Given the description of an element on the screen output the (x, y) to click on. 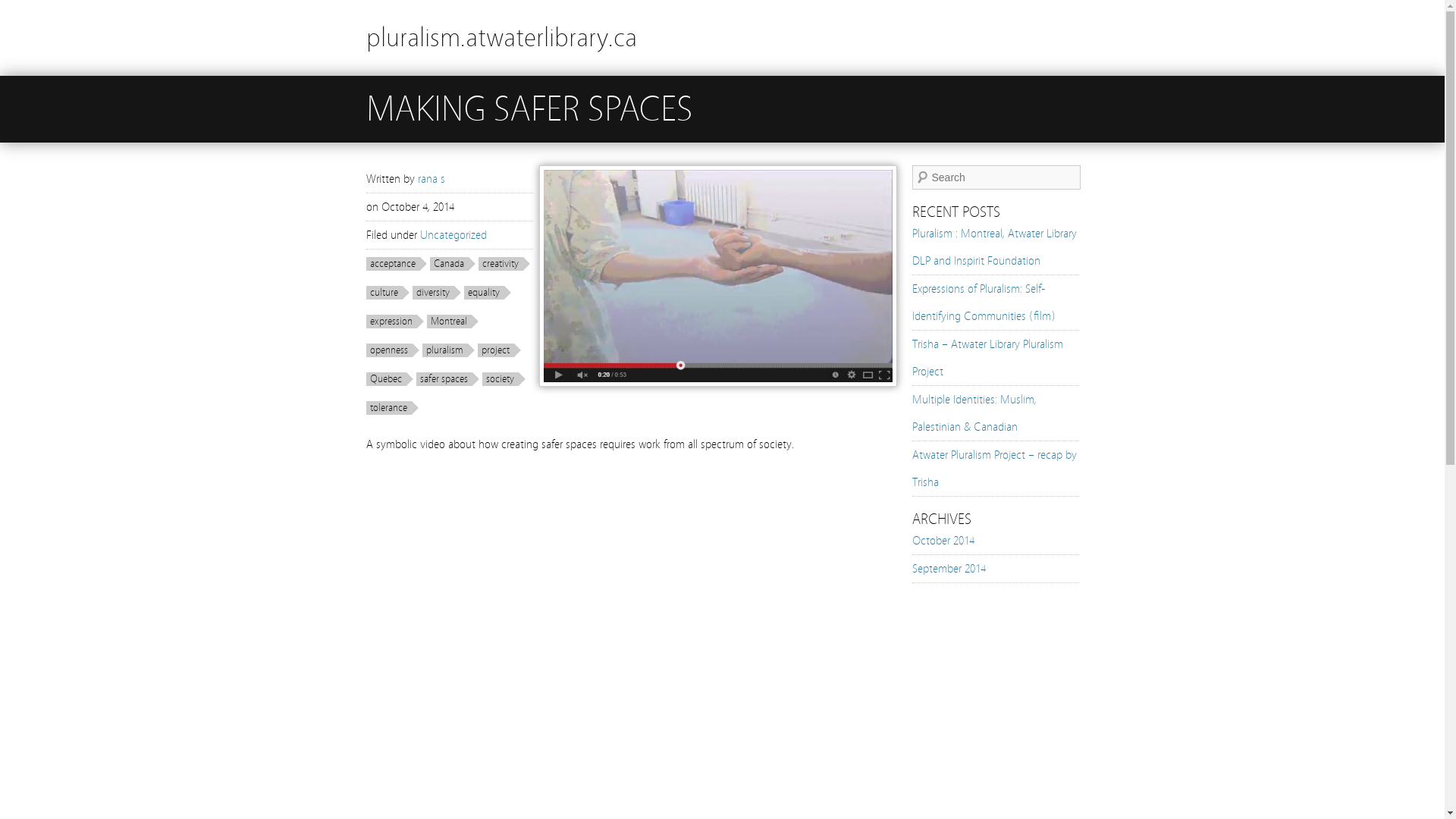
society Element type: text (503, 378)
Multiple Identities: Muslim, Palestinian & Canadian Element type: text (973, 412)
creativity Element type: text (503, 263)
tolerance Element type: text (391, 407)
Canada Element type: text (451, 263)
pluralism Element type: text (447, 350)
Quebec Element type: text (388, 378)
rana s Element type: text (430, 178)
equality Element type: text (487, 292)
acceptance Element type: text (395, 263)
Search Element type: text (21, 7)
culture Element type: text (386, 292)
diversity Element type: text (436, 292)
pluralism.atwaterlibrary.ca Element type: text (500, 37)
safer spaces Element type: text (446, 378)
Montreal Element type: text (451, 321)
Uncategorized Element type: text (453, 234)
September 2014 Element type: text (948, 568)
October 2014 Element type: text (942, 540)
expression Element type: text (394, 321)
project Element type: text (498, 350)
openness Element type: text (391, 350)
